Given the description of an element on the screen output the (x, y) to click on. 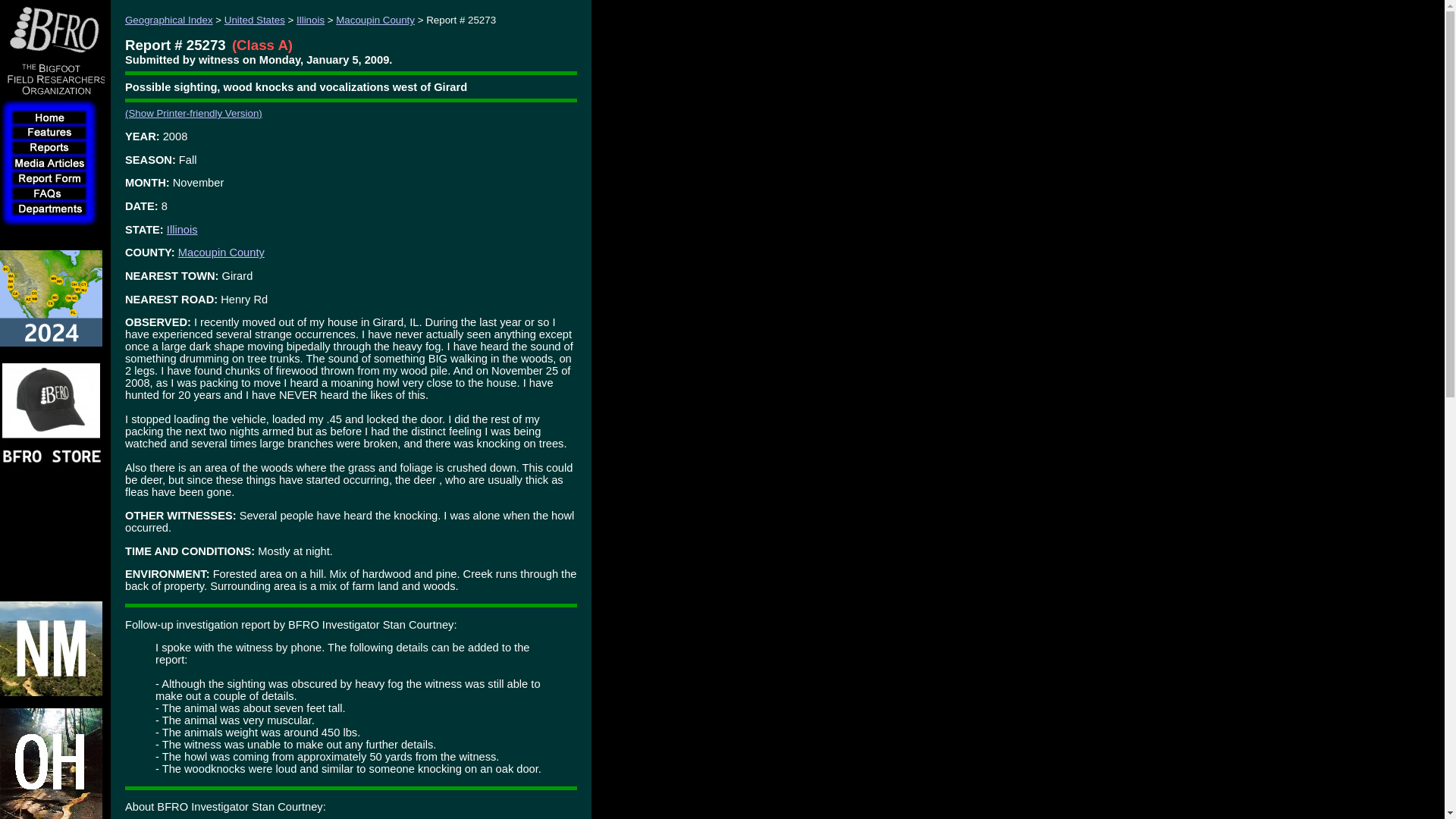
Illinois (310, 19)
Illinois (182, 229)
Geographical Index (168, 19)
Macoupin County (220, 252)
United States (254, 19)
Macoupin County (375, 19)
